Given the description of an element on the screen output the (x, y) to click on. 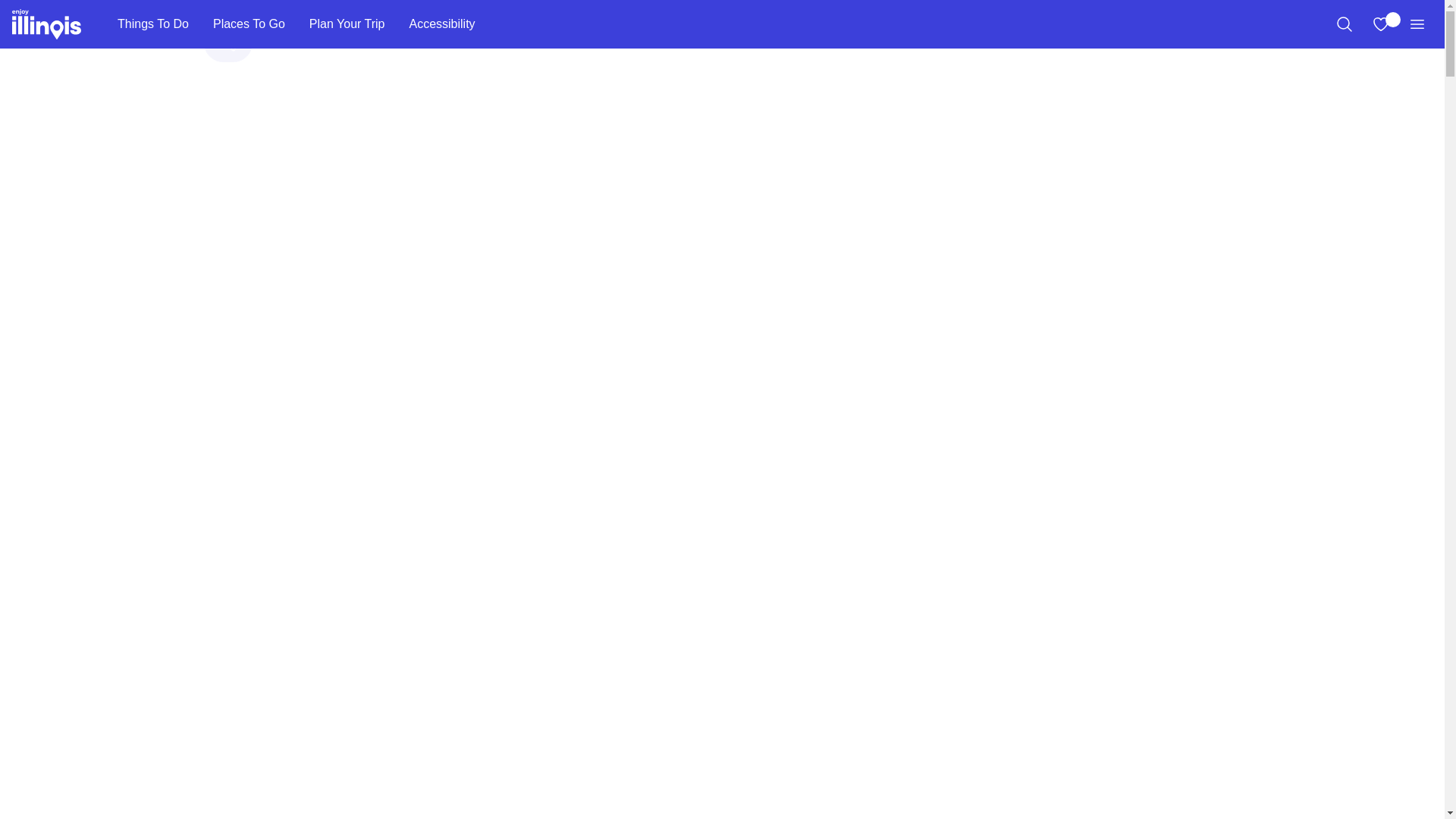
View My Favorites (1380, 24)
Menu (1417, 24)
Things To Do (152, 24)
Places To Go (248, 24)
Accessibility (441, 24)
Search the Site (1344, 24)
Plan Your Trip (347, 24)
